Given the description of an element on the screen output the (x, y) to click on. 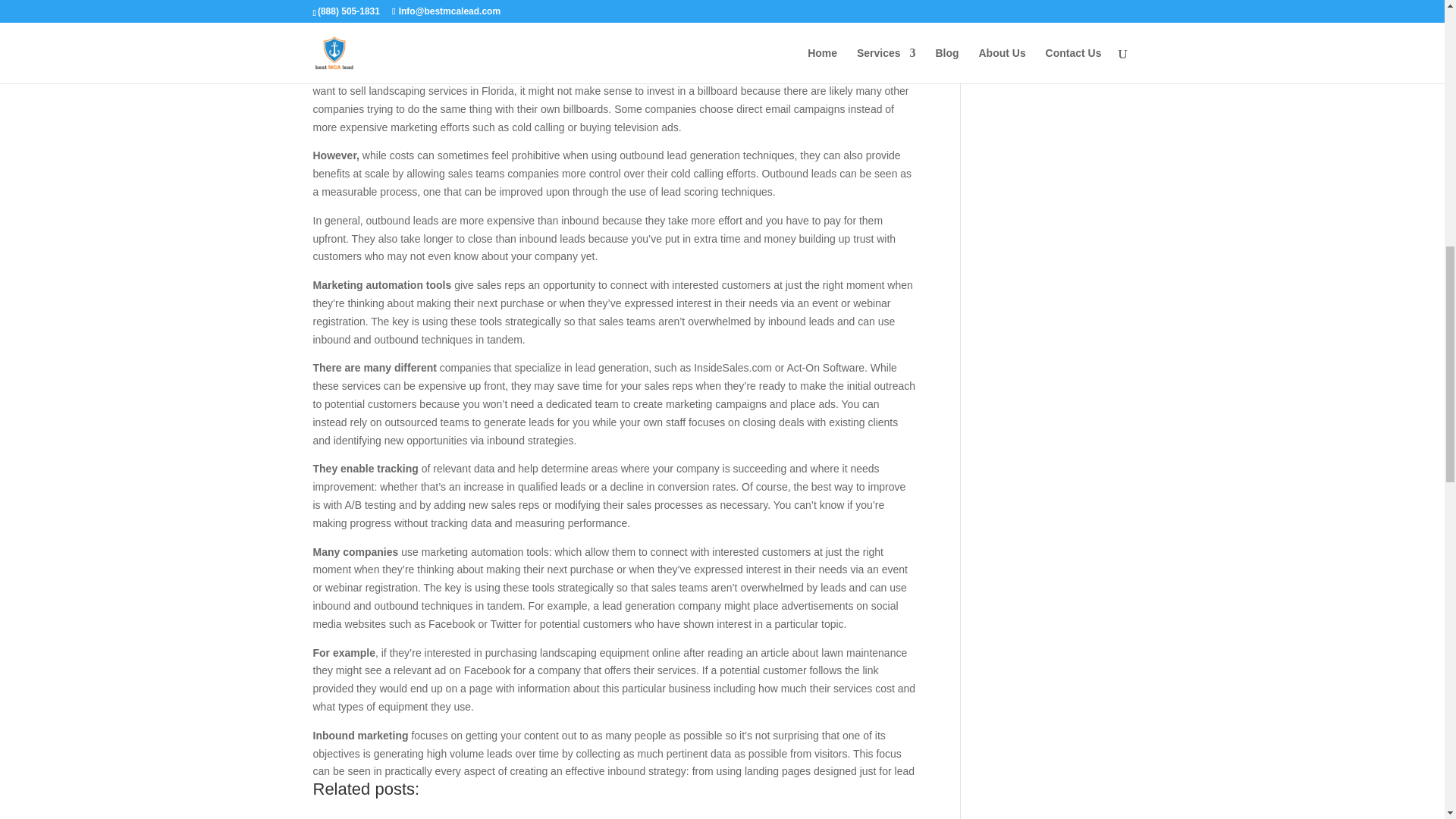
Generate leads for business (617, 812)
b2b lead generation companies in usa (496, 812)
